Given the description of an element on the screen output the (x, y) to click on. 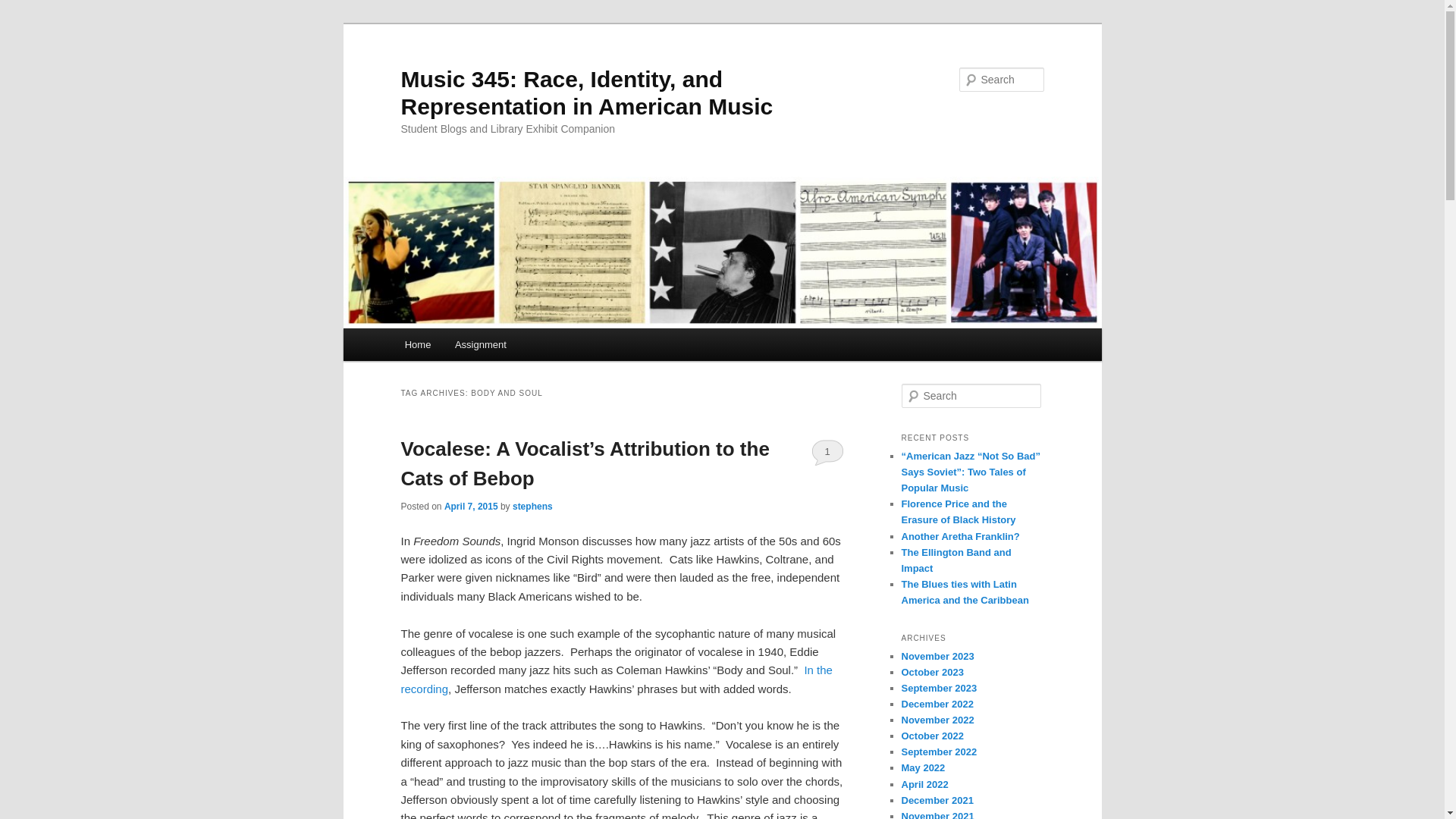
September 2023 (938, 687)
April 7, 2015 (470, 506)
Assignment (480, 344)
Search (21, 11)
September 2022 (938, 751)
May 2022 (922, 767)
The Ellington Band and Impact (955, 560)
The Blues ties with Latin America and the Caribbean (964, 592)
In the recording (615, 678)
Florence Price and the Erasure of Black History (957, 511)
Home (417, 344)
November 2023 (937, 655)
stephens (532, 506)
October 2022 (931, 736)
November 2022 (937, 719)
